Given the description of an element on the screen output the (x, y) to click on. 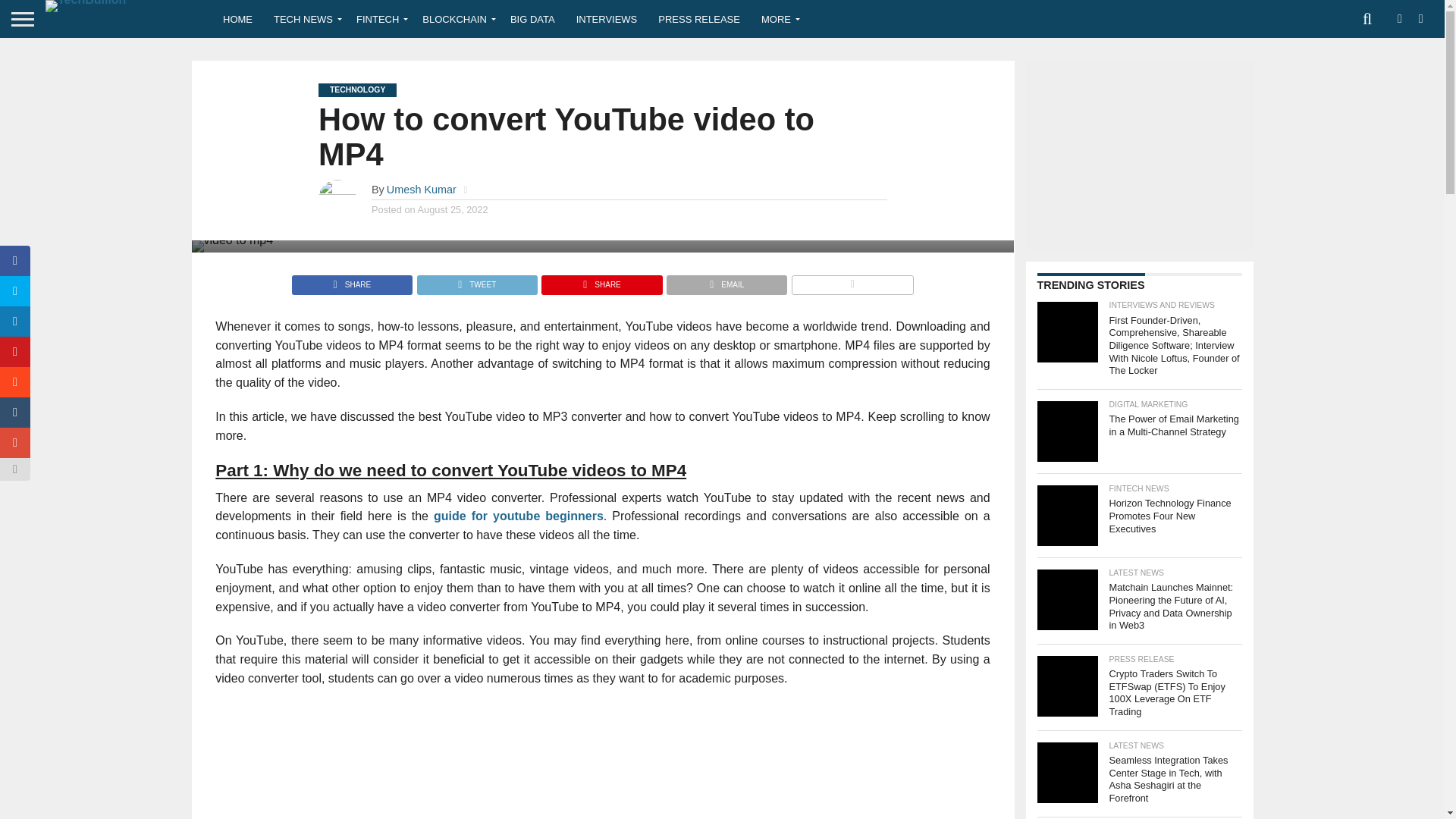
Pin This Post (601, 280)
Posts by Umesh Kumar (422, 189)
Tweet This Post (476, 280)
Share on Facebook (352, 280)
